Given the description of an element on the screen output the (x, y) to click on. 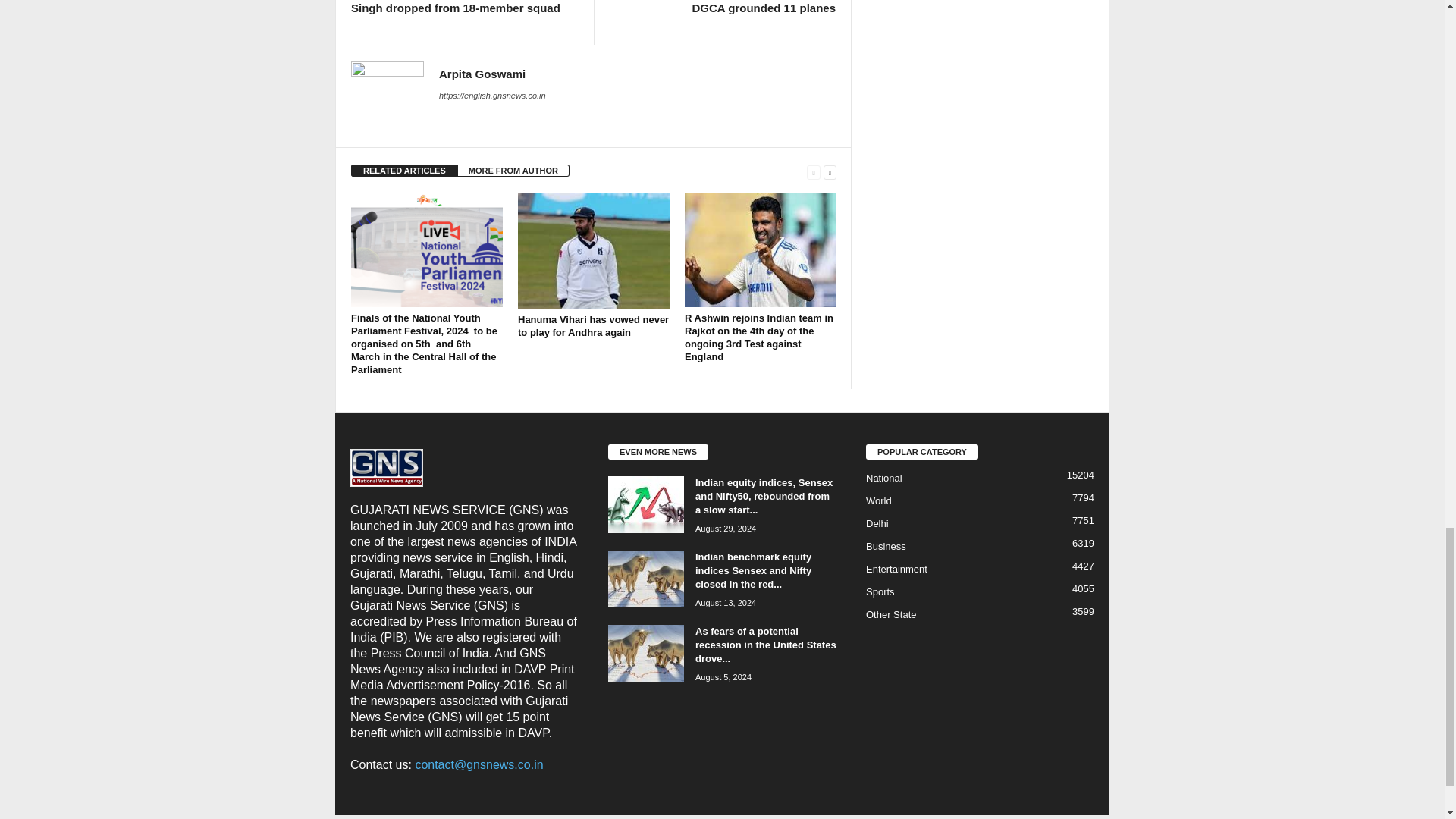
Hanuma Vihari has vowed never to play for Andhra again (593, 250)
Hanuma Vihari has vowed never to play for Andhra again (593, 325)
